Given the description of an element on the screen output the (x, y) to click on. 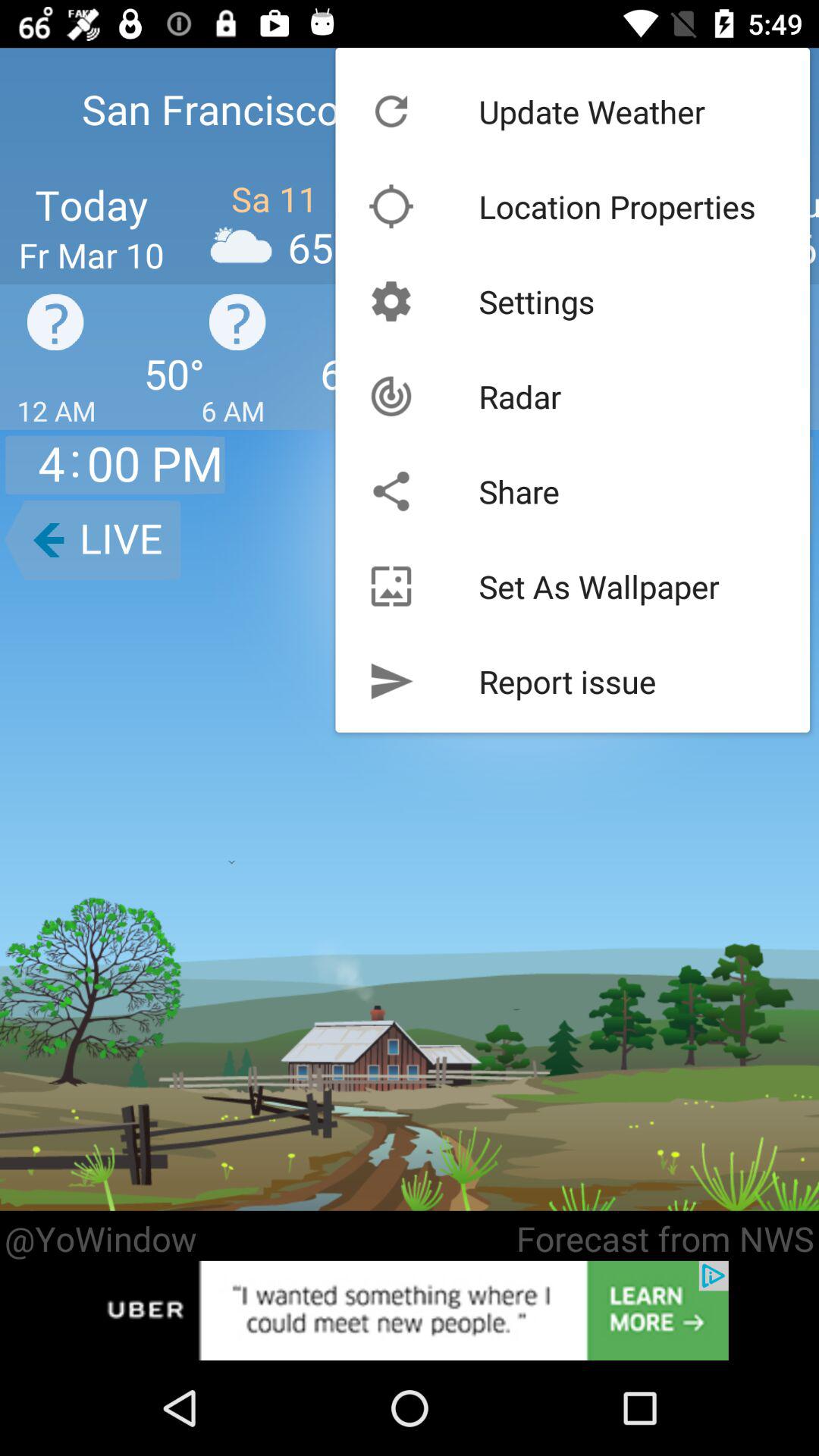
turn on the item below share (598, 585)
